Given the description of an element on the screen output the (x, y) to click on. 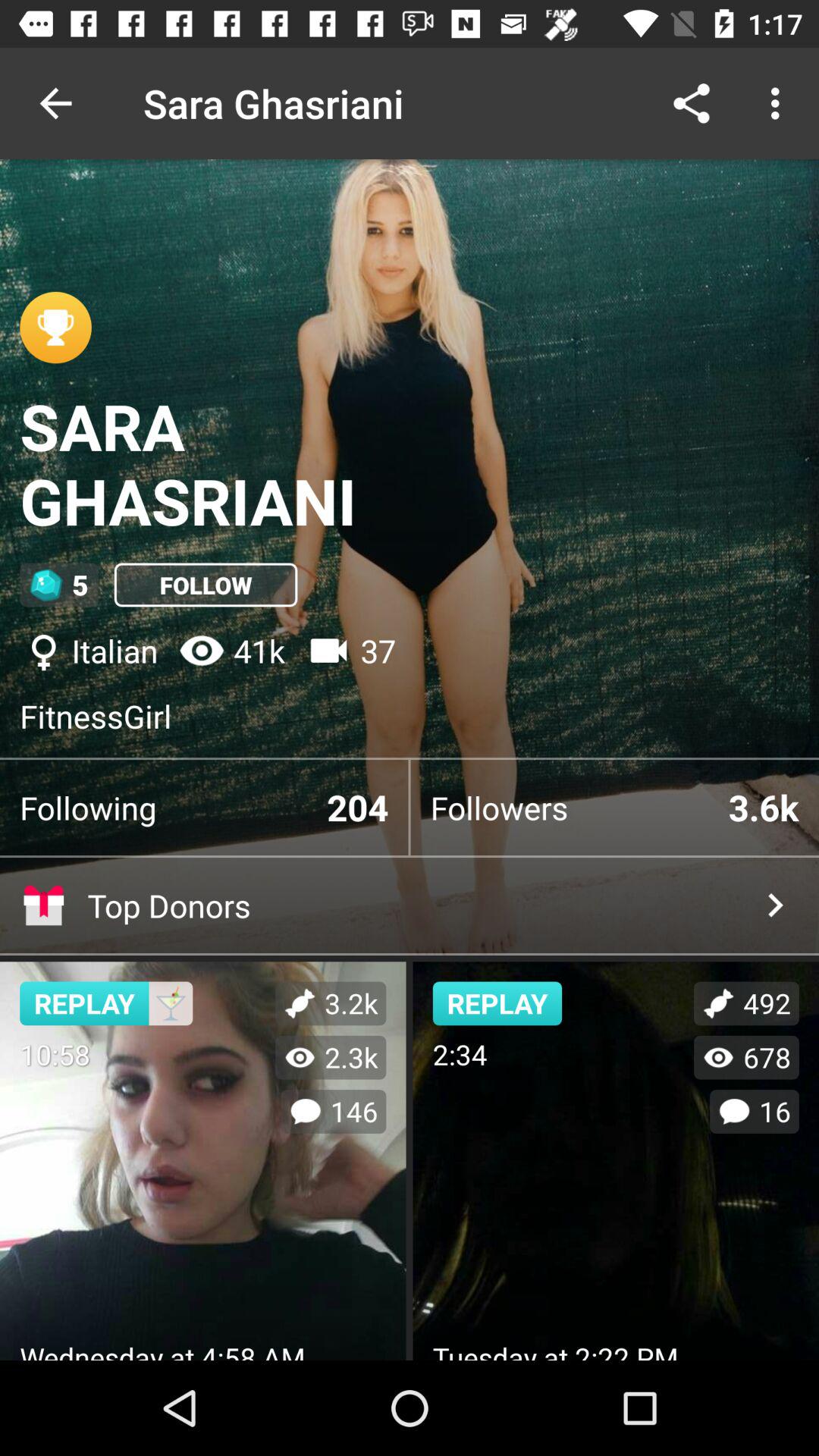
choose follow icon (205, 584)
